Given the description of an element on the screen output the (x, y) to click on. 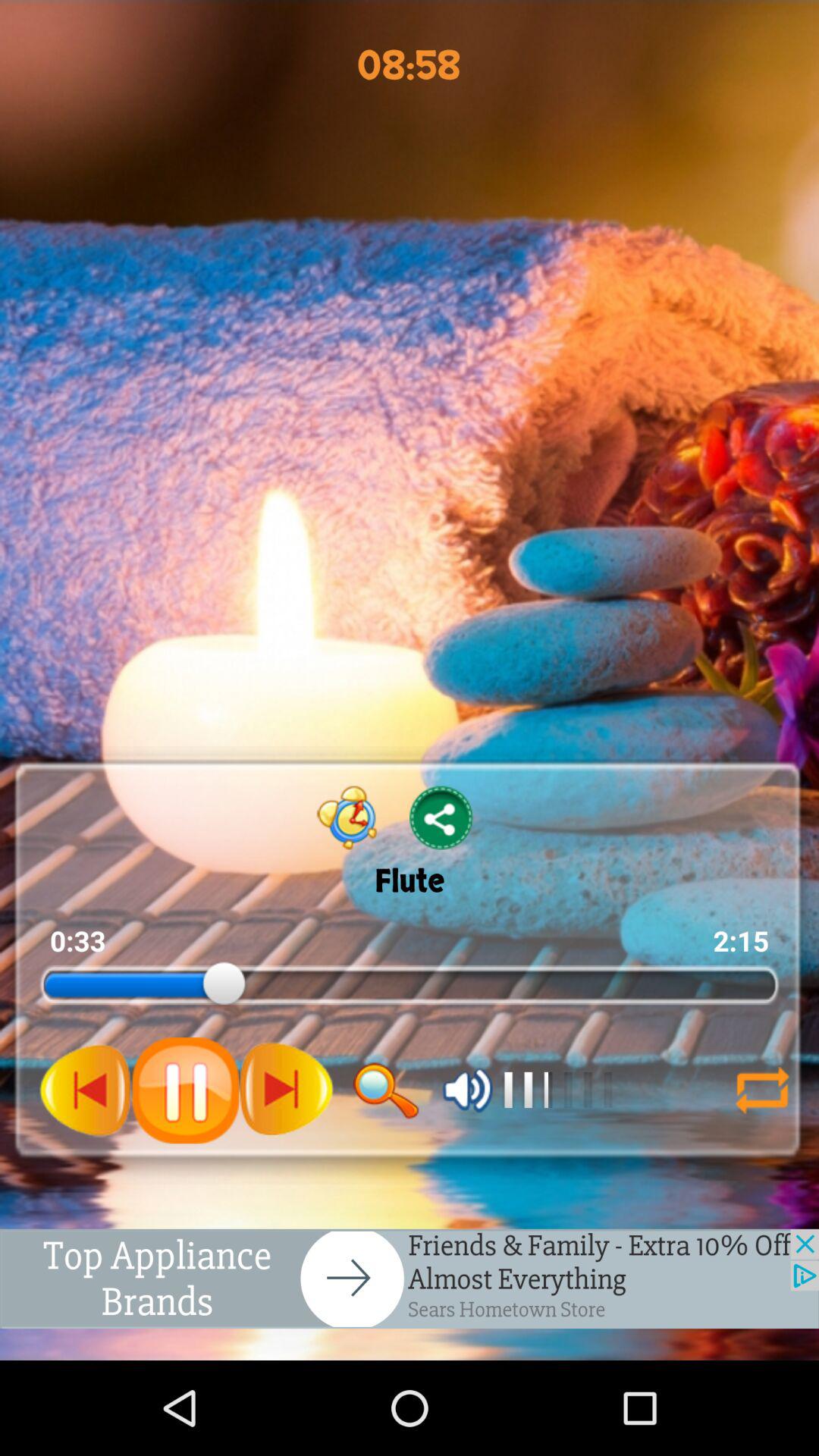
volume (467, 1089)
